Given the description of an element on the screen output the (x, y) to click on. 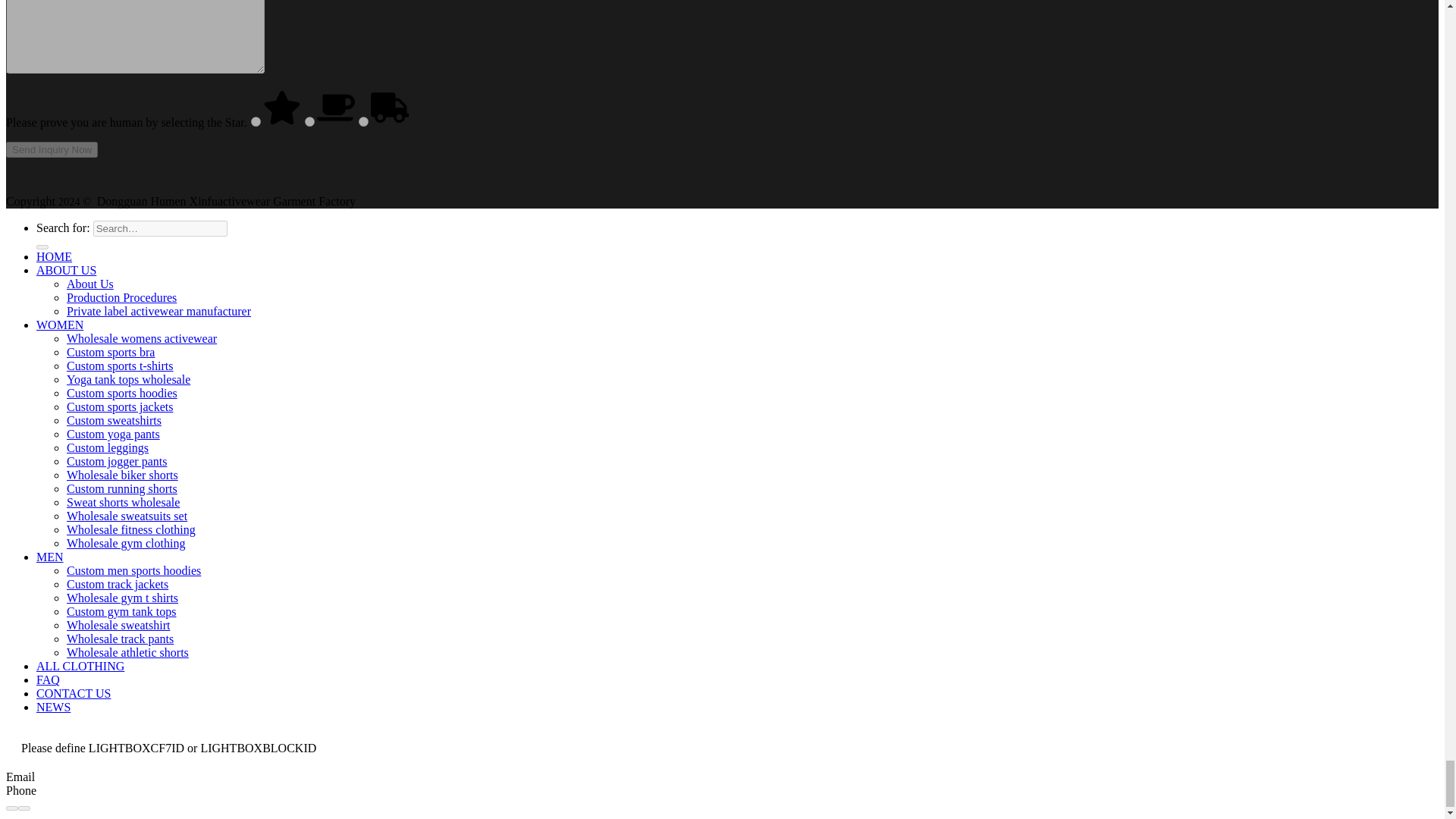
bot (309, 121)
